Given the description of an element on the screen output the (x, y) to click on. 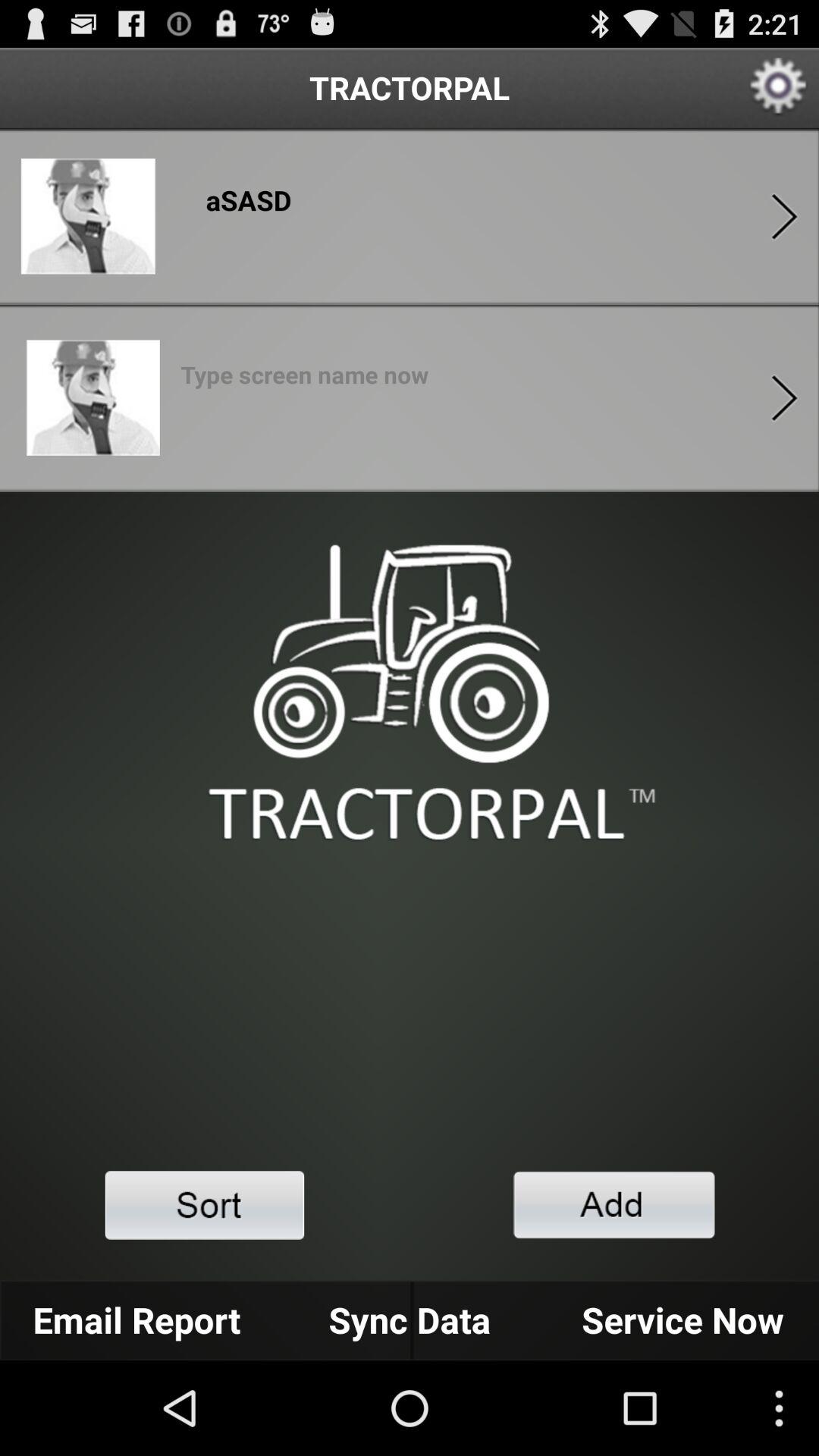
input screen name (304, 379)
